Given the description of an element on the screen output the (x, y) to click on. 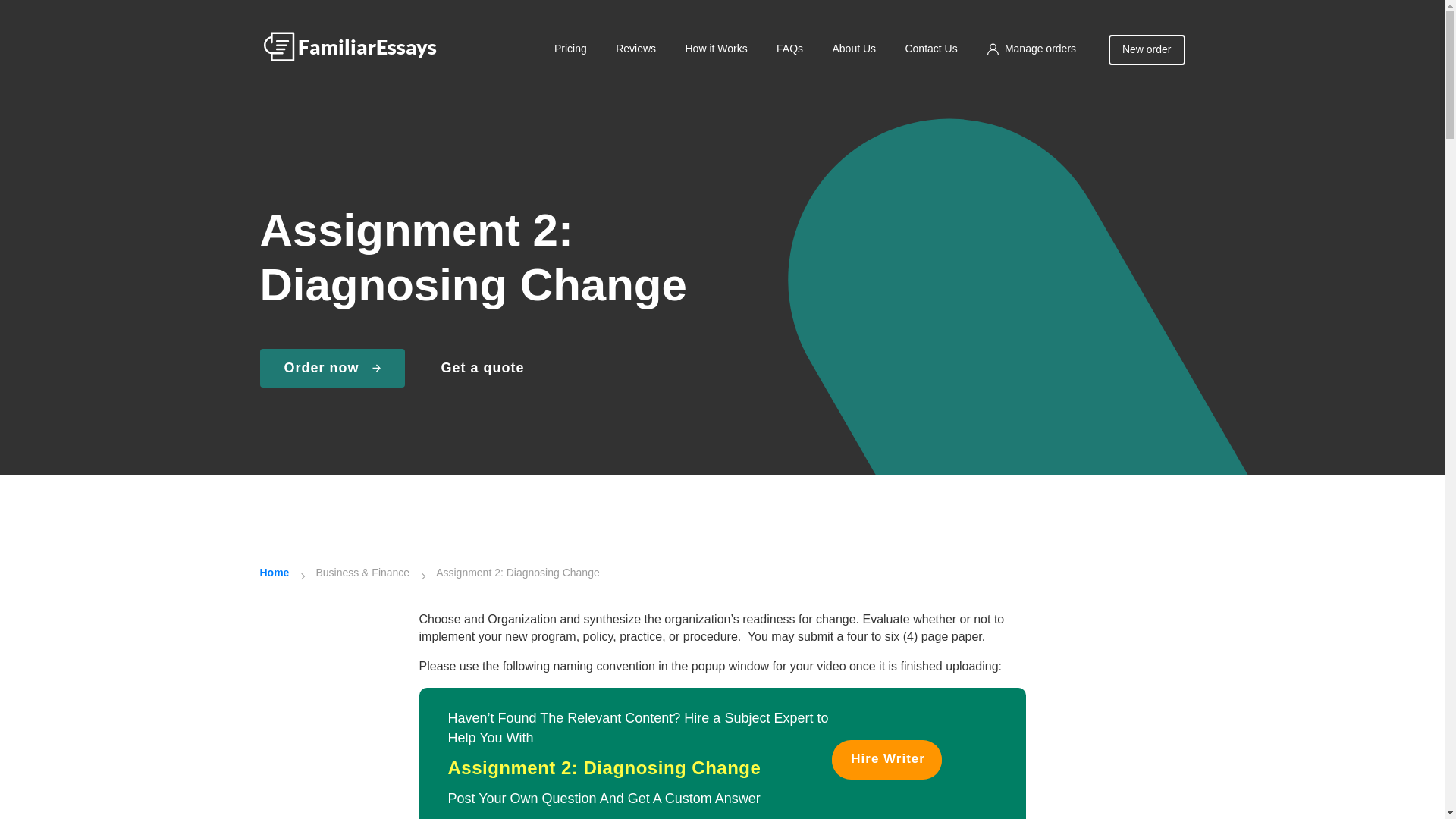
Hire Writer (886, 759)
Manage orders (1031, 49)
FAQs (789, 48)
New order (1146, 50)
Order now (331, 368)
Contact Us (930, 48)
Reviews (635, 48)
How it Works (715, 48)
About Us (853, 48)
Get a quote (482, 368)
